Given the description of an element on the screen output the (x, y) to click on. 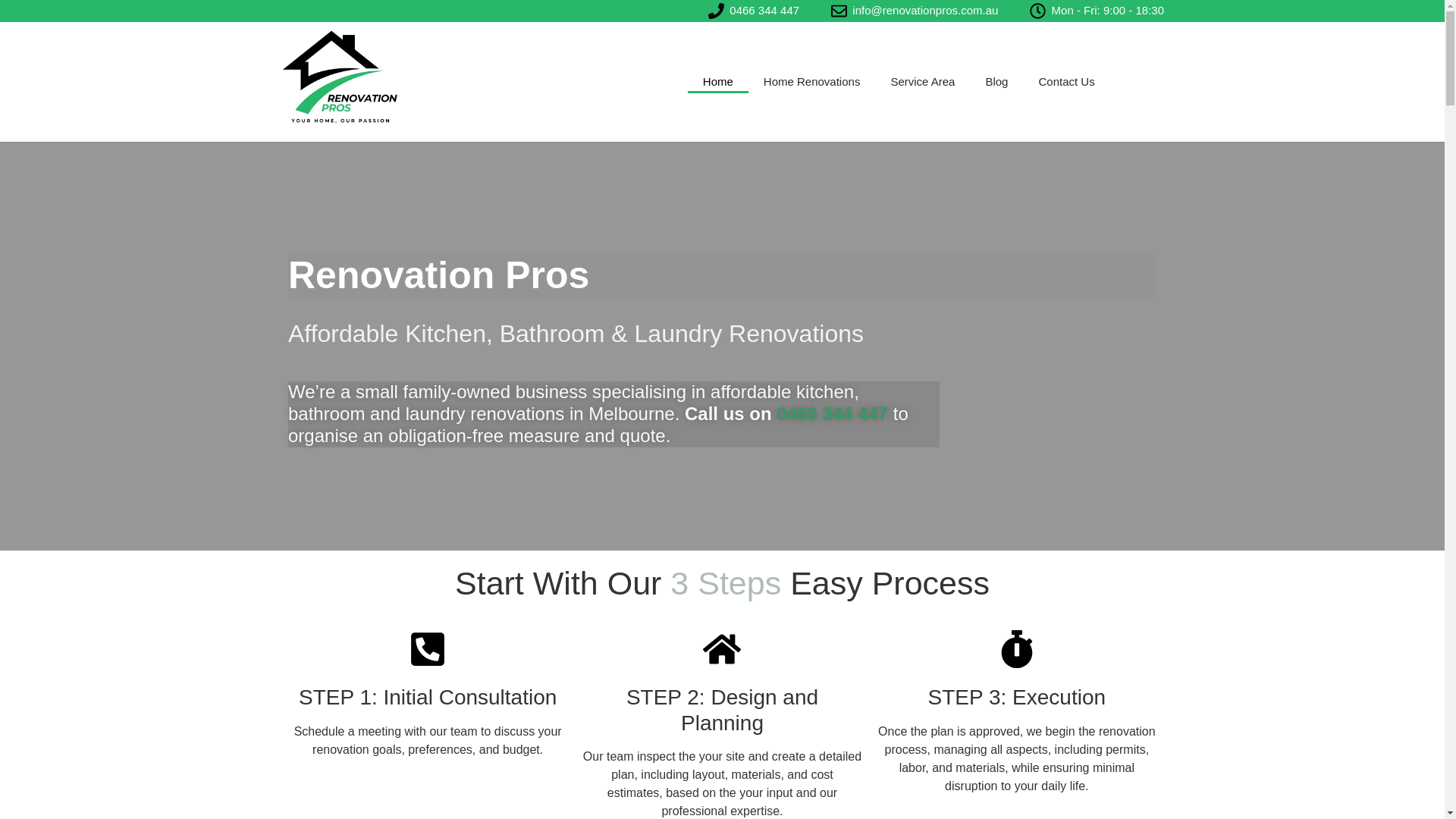
Contact Us (1066, 81)
Service Area (922, 81)
Blog (996, 81)
Home (717, 81)
0466 344 447 (752, 10)
Home Renovations (812, 81)
